Given the description of an element on the screen output the (x, y) to click on. 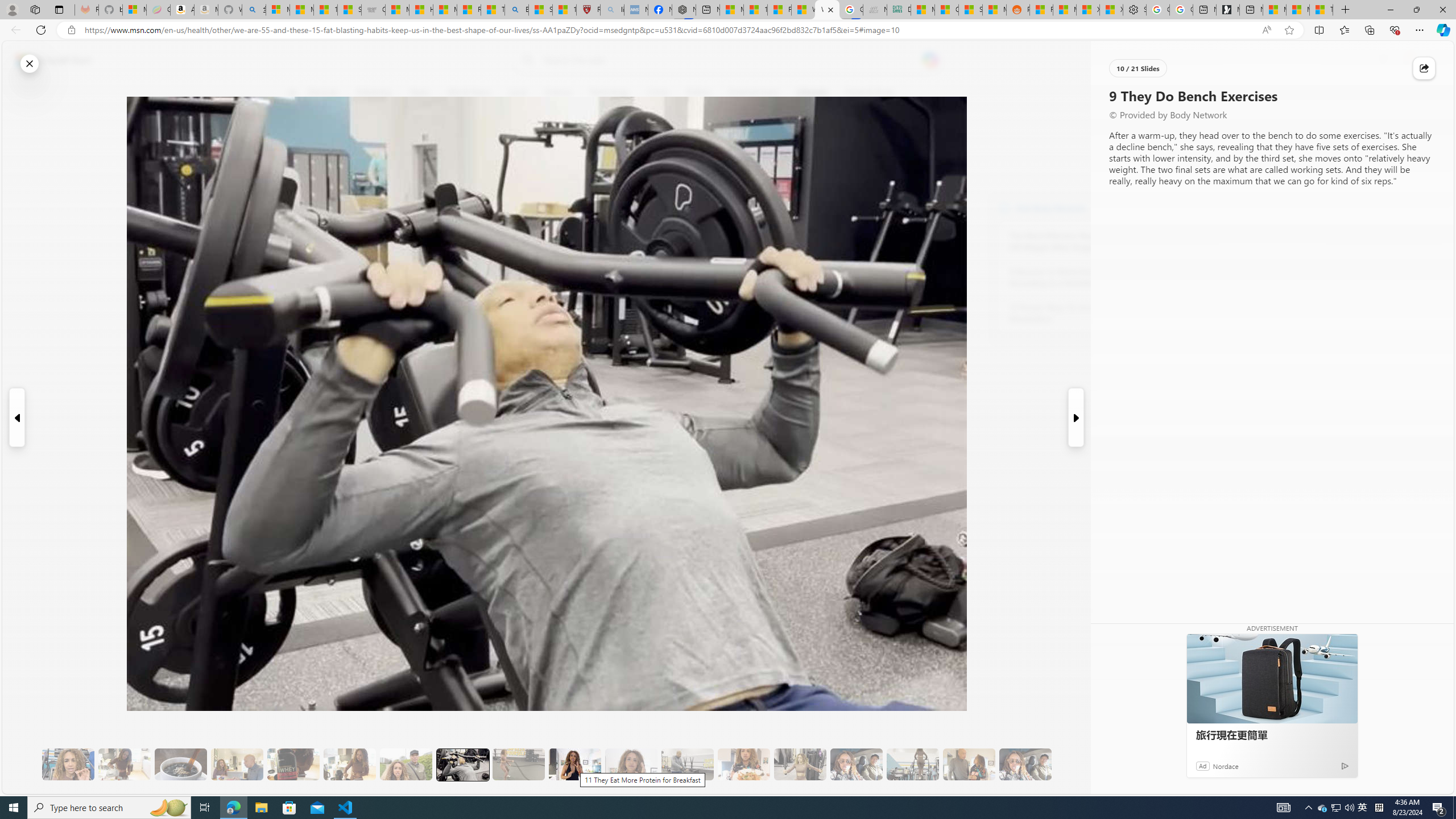
Follow (518, 146)
Body Network (1004, 207)
6 Since Eating More Protein Her Training Has Improved (293, 764)
13 Her Husband Does Group Cardio Classs (687, 764)
